Given the description of an element on the screen output the (x, y) to click on. 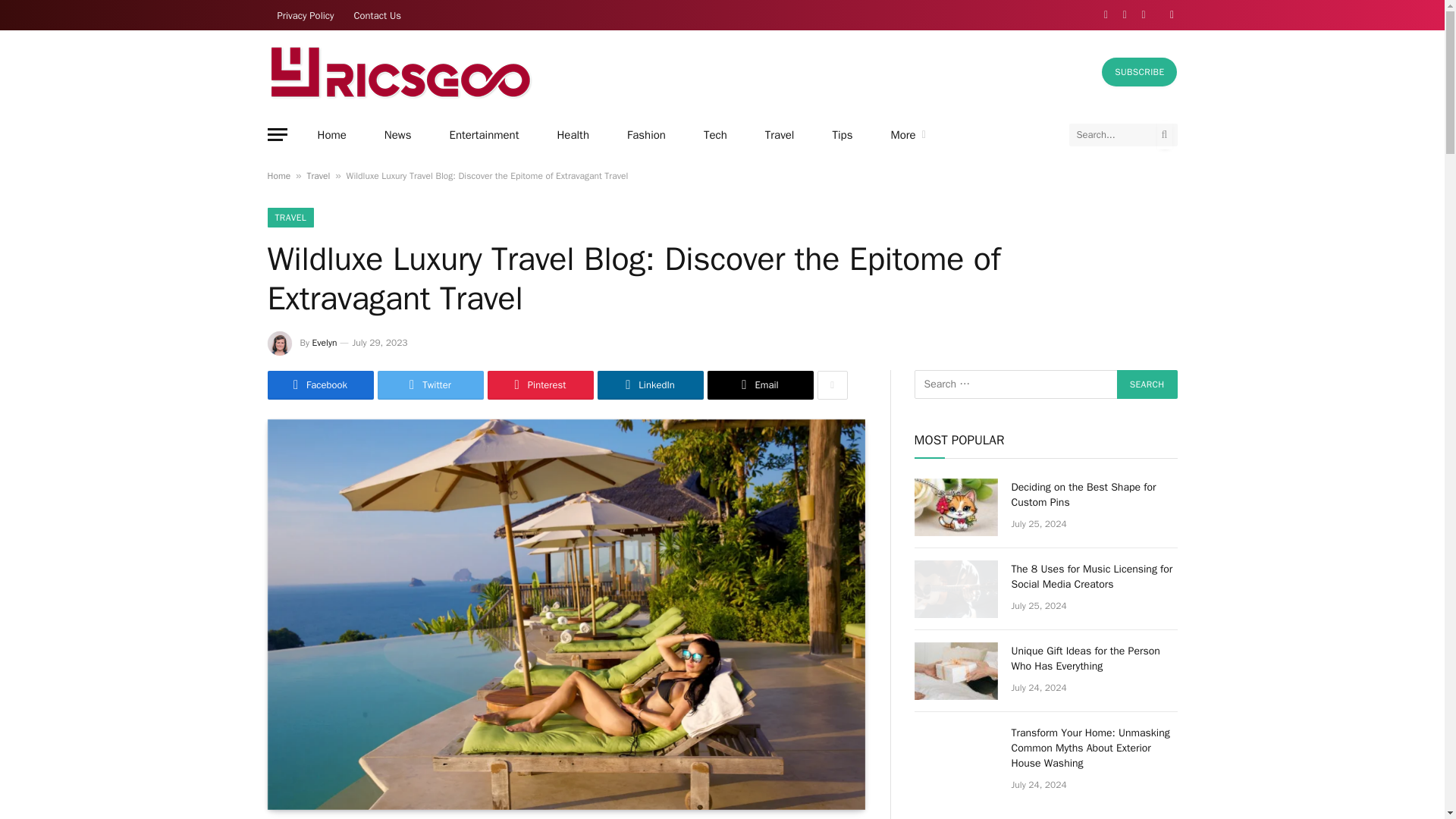
Share via Email (759, 385)
Twitter (430, 385)
Home (277, 175)
Evelyn (325, 342)
Contact Us (377, 15)
Facebook (319, 385)
TRAVEL (290, 217)
Fashion (646, 134)
Privacy Policy (304, 15)
Home (331, 134)
Travel (317, 175)
Lyricsgoo.com (399, 71)
Travel (779, 134)
Share on Pinterest (539, 385)
Entertainment (484, 134)
